Given the description of an element on the screen output the (x, y) to click on. 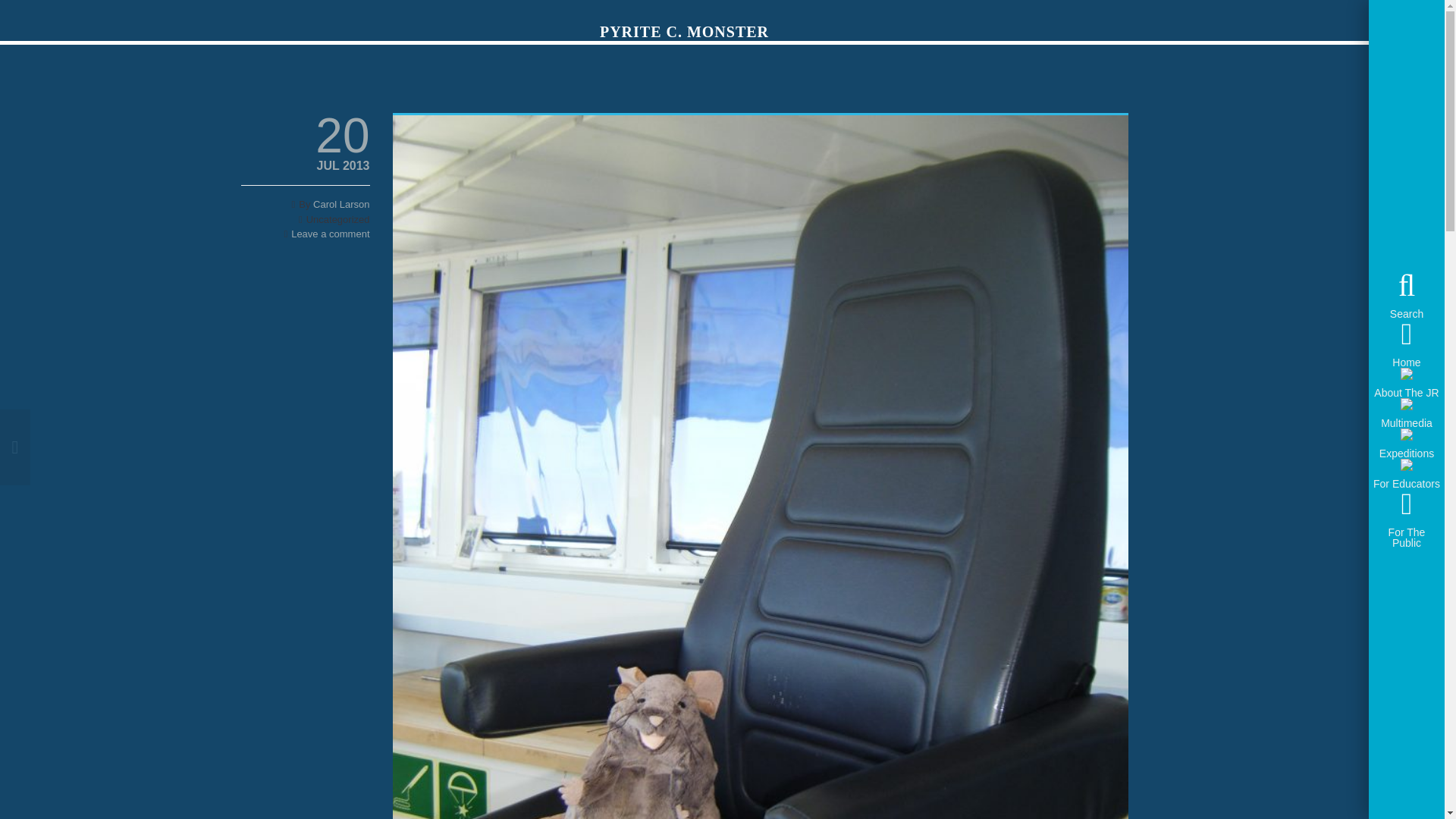
Leave a comment (330, 233)
CORING IS NEVER BORING IN THE GULF OF ALASKA (159, 447)
Carol Larson (341, 204)
View all posts by Carol Larson (341, 204)
